Given the description of an element on the screen output the (x, y) to click on. 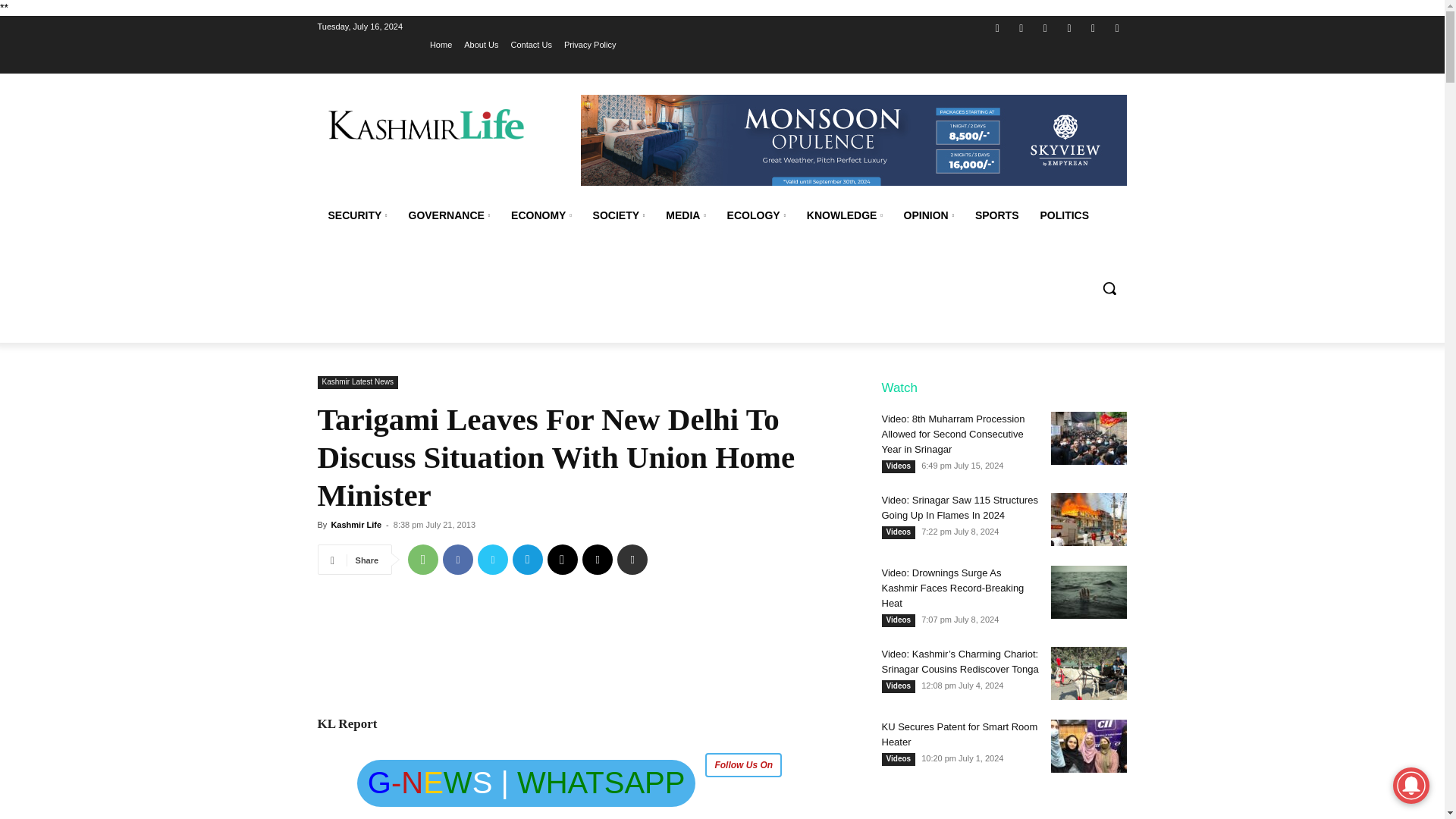
Website (1069, 28)
Youtube (1116, 28)
Facebook (997, 28)
WhatsApp (1093, 28)
Instagram (1021, 28)
WhatsApp (422, 559)
Twitter (1045, 28)
